Given the description of an element on the screen output the (x, y) to click on. 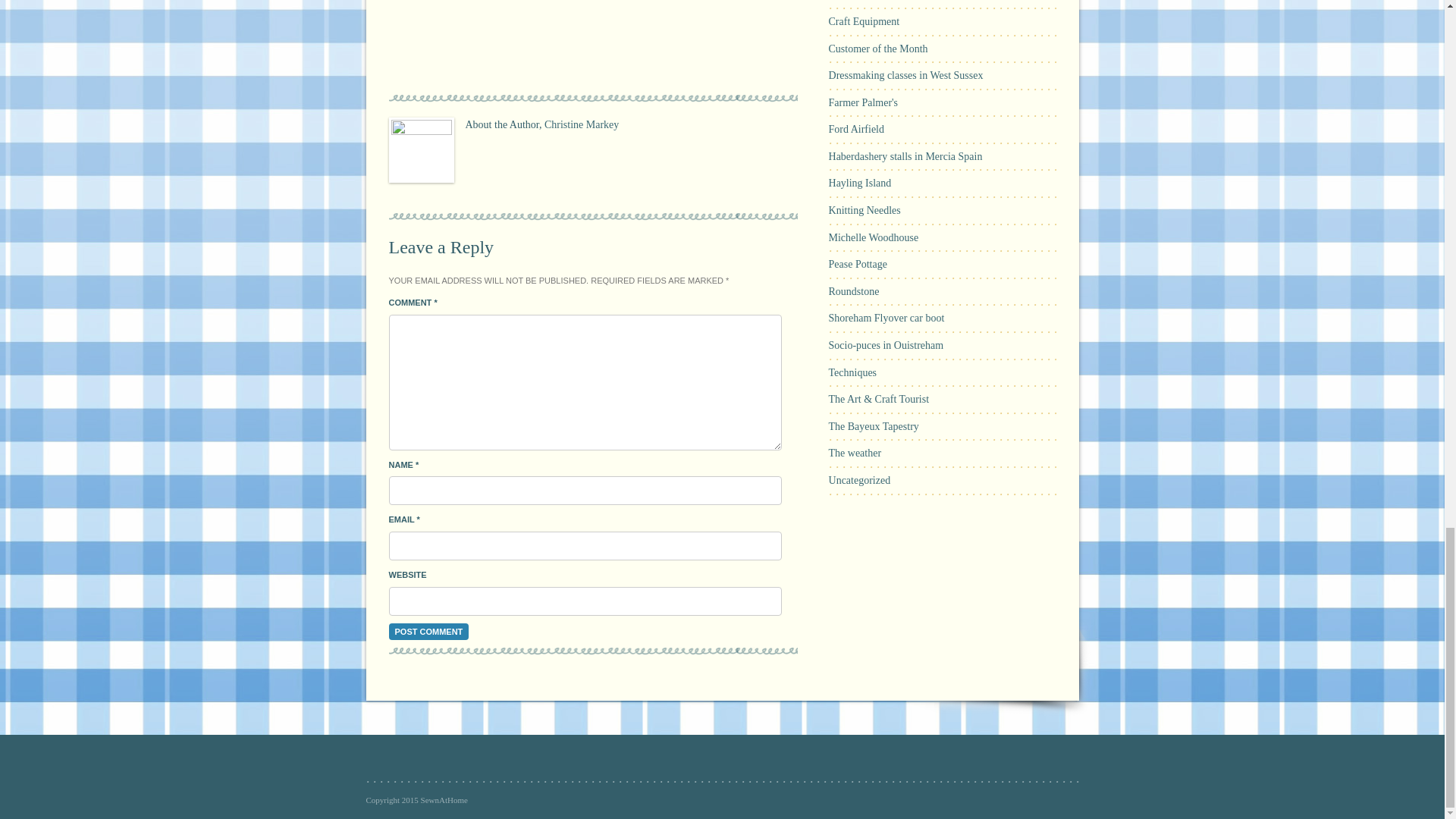
Christine Markey (581, 124)
Post Comment (428, 631)
Posts by Christine Markey (581, 124)
Post Comment (428, 631)
